Given the description of an element on the screen output the (x, y) to click on. 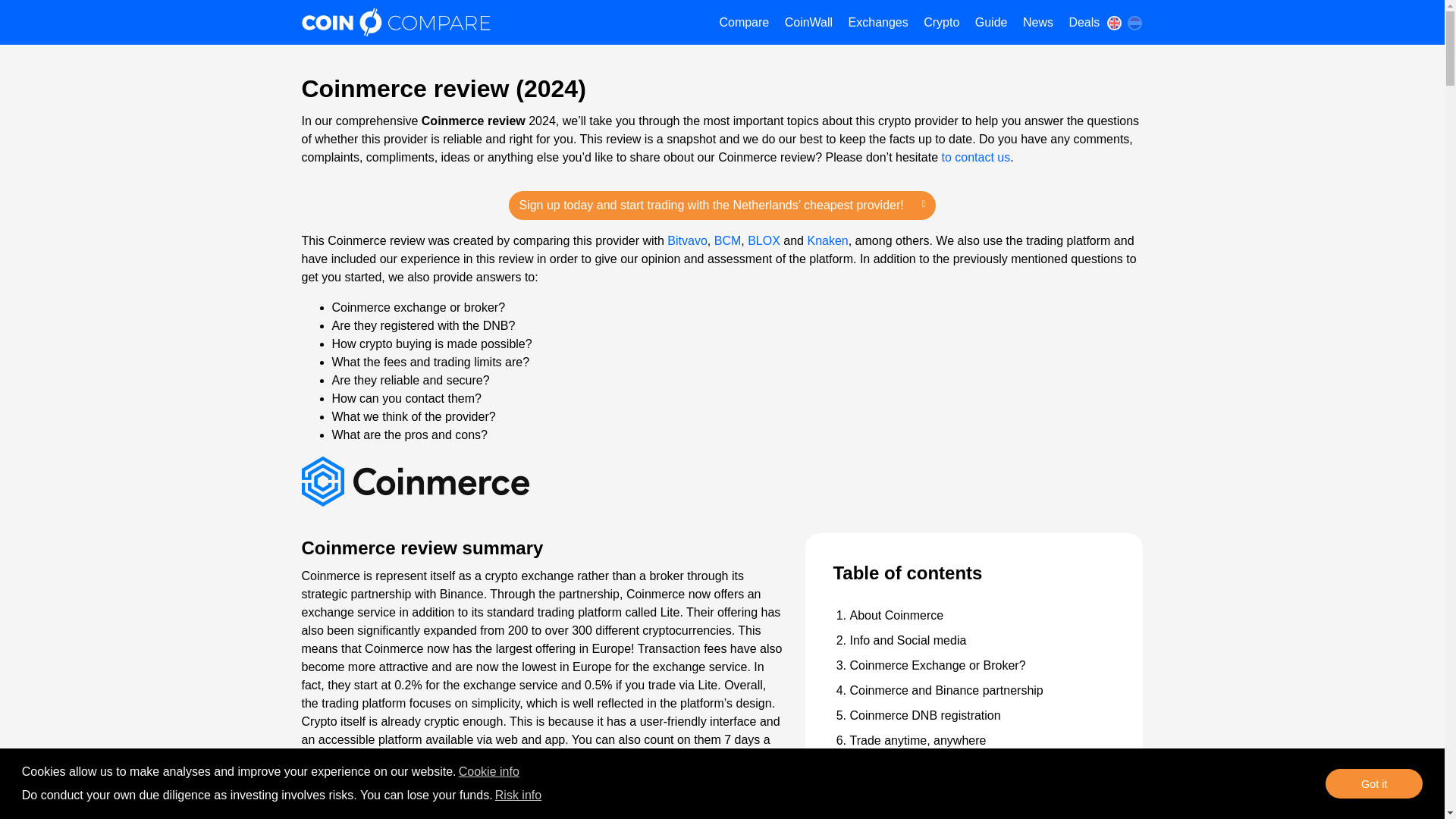
Trade anytime, anywhere (916, 739)
Knaken (826, 240)
BLOX (764, 240)
Bitvavo (686, 240)
Risk info (518, 794)
Coinmerce coins (893, 814)
to contact us (976, 156)
Exchanges (878, 22)
Got it (1373, 784)
BCM (727, 240)
Coinmerce Exchange or Broker? (936, 665)
Compare (743, 22)
Crypto (941, 22)
News (1037, 22)
Cookie info (489, 771)
